Given the description of an element on the screen output the (x, y) to click on. 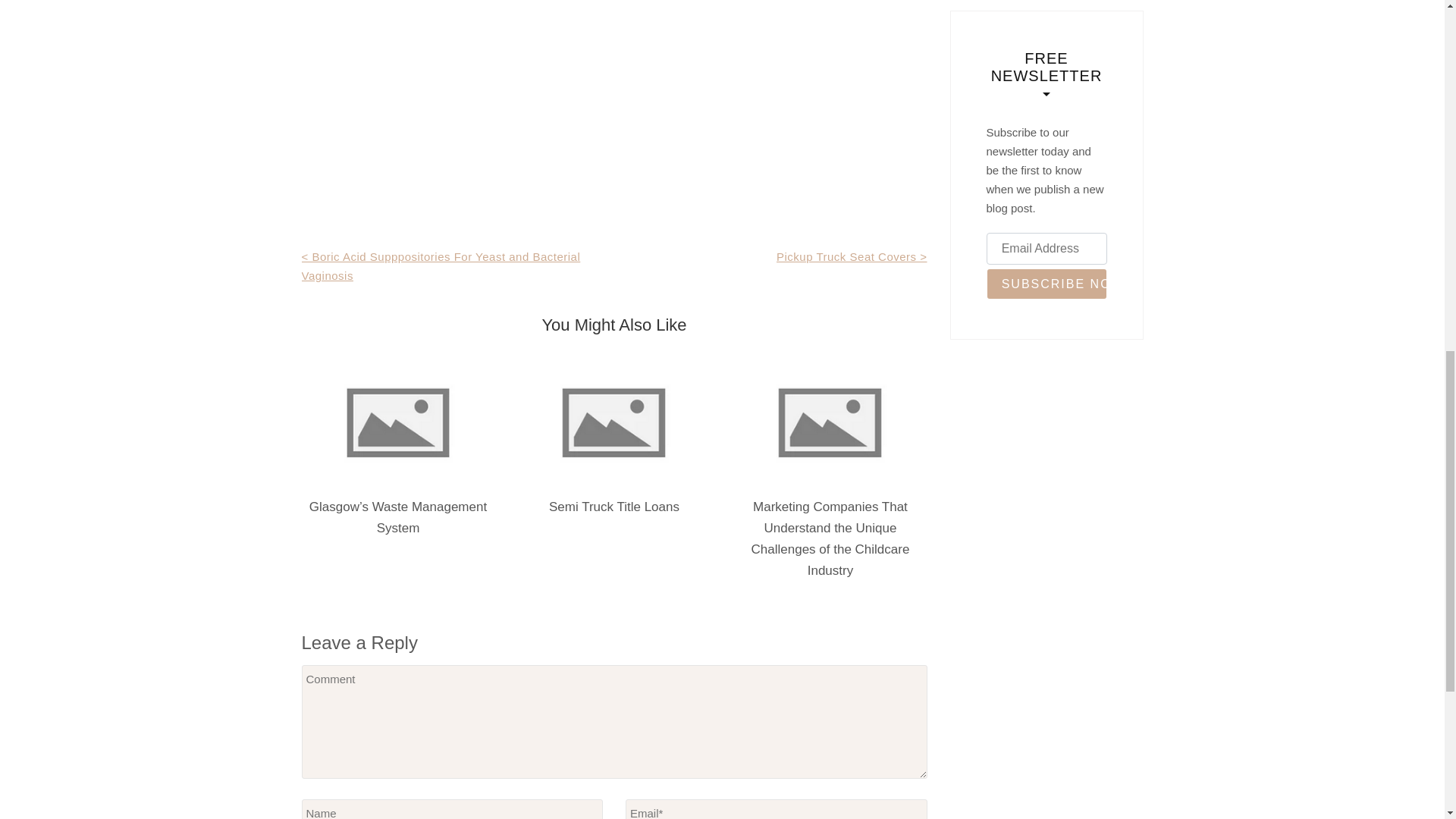
Semi Truck Title Loans (613, 506)
SUBSCRIBE NOW (1045, 284)
SUBSCRIBE NOW (1045, 284)
